Given the description of an element on the screen output the (x, y) to click on. 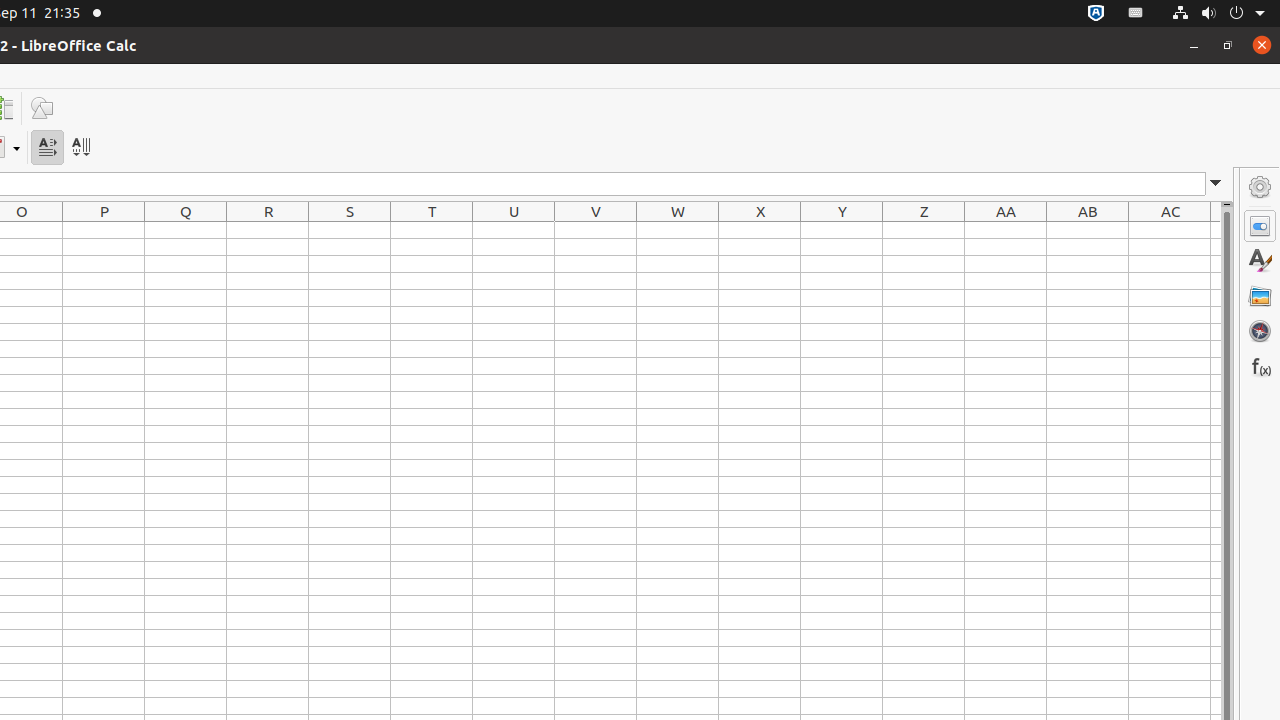
S1 Element type: table-cell (350, 230)
